Given the description of an element on the screen output the (x, y) to click on. 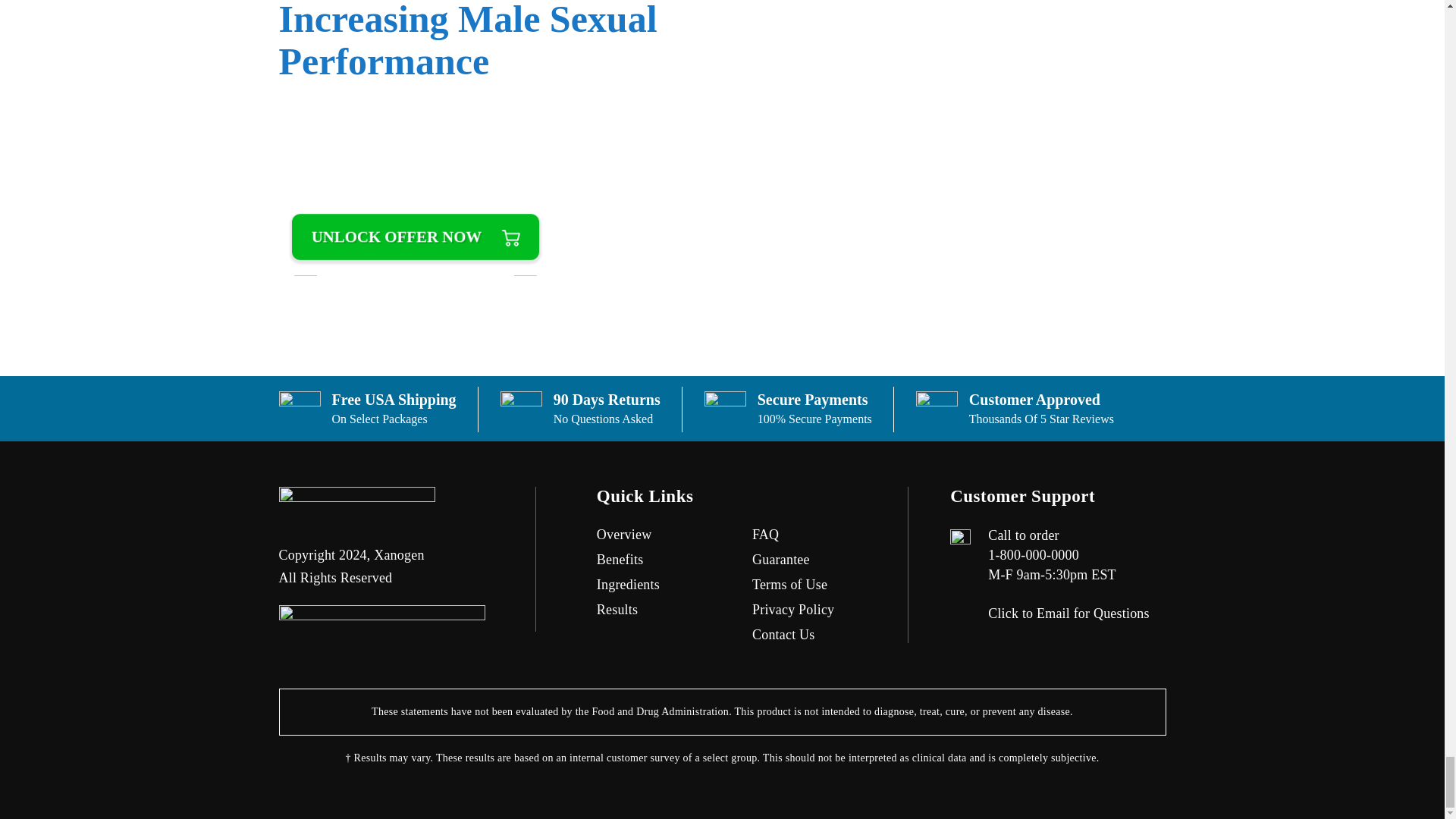
Privacy Policy (793, 609)
Terms of Use (789, 584)
1-800-000-0000 (1033, 554)
Ingredients (627, 584)
FAQ (765, 534)
Guarantee (780, 559)
UNLOCK OFFER NOW (415, 237)
Overview (624, 534)
Contact Us (783, 634)
Click to Email for Questions (1069, 613)
